Given the description of an element on the screen output the (x, y) to click on. 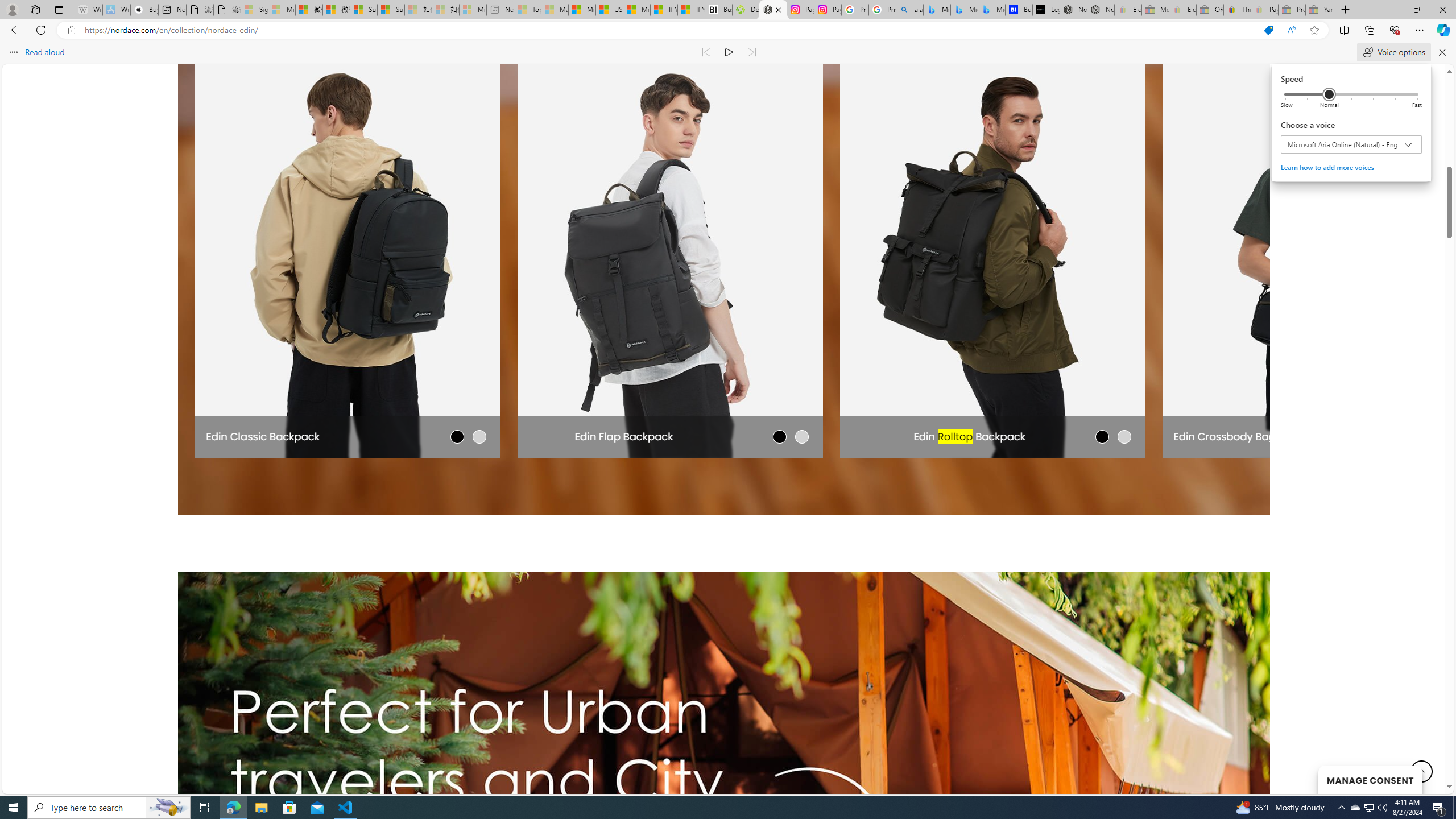
This site has coupons! Shopping in Microsoft Edge (1268, 29)
User Promoted Notification Area (1368, 807)
Light Gray (478, 436)
Show desktop (1454, 807)
US Heat Deaths Soared To Record High Last Year (609, 9)
